Given the description of an element on the screen output the (x, y) to click on. 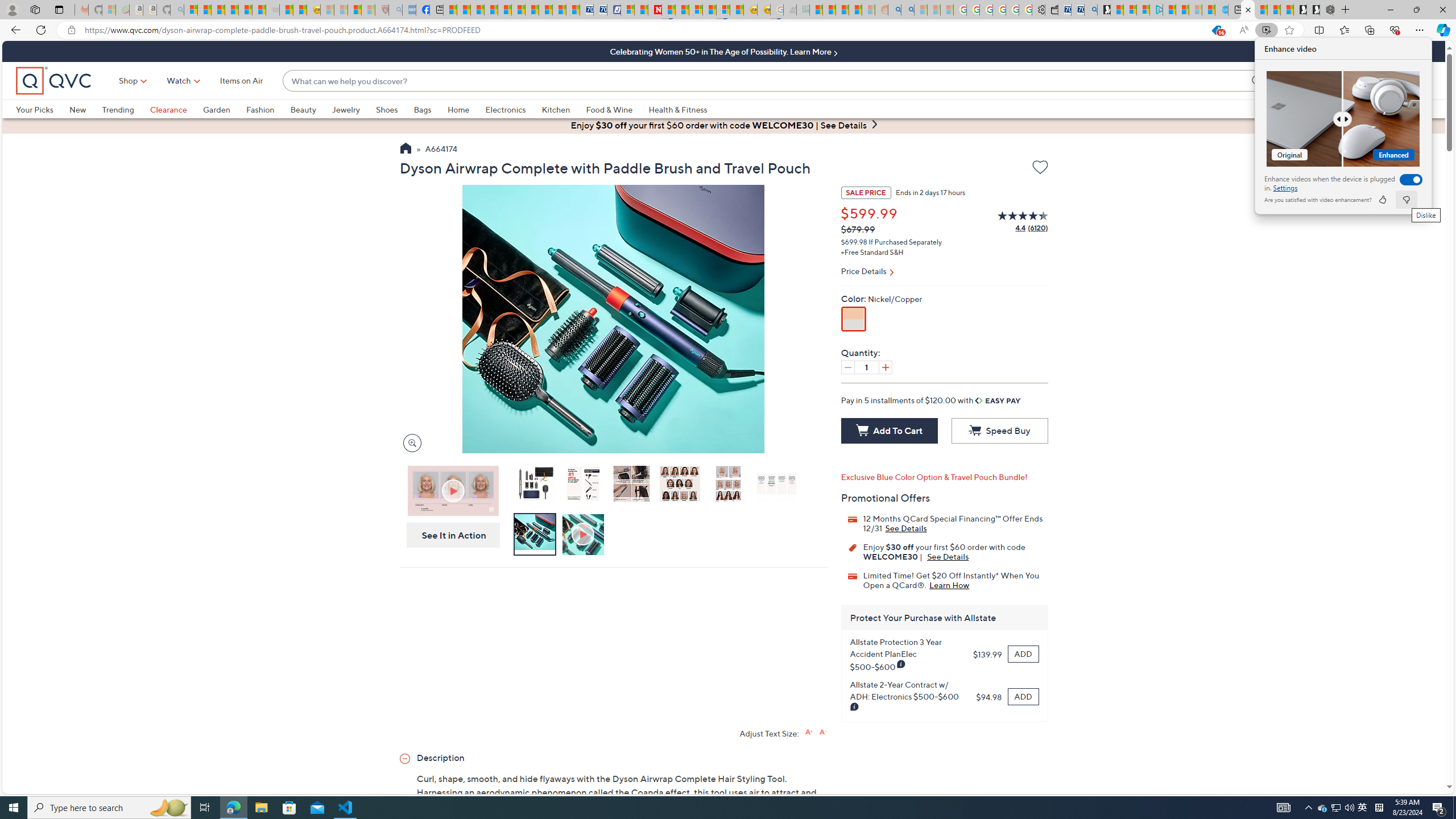
If Purchased Separately (904, 241)
Easy Pay (998, 400)
How to Use (583, 534)
Jewelry (345, 109)
dislike (1405, 199)
SALE PRICE (865, 192)
